Given the description of an element on the screen output the (x, y) to click on. 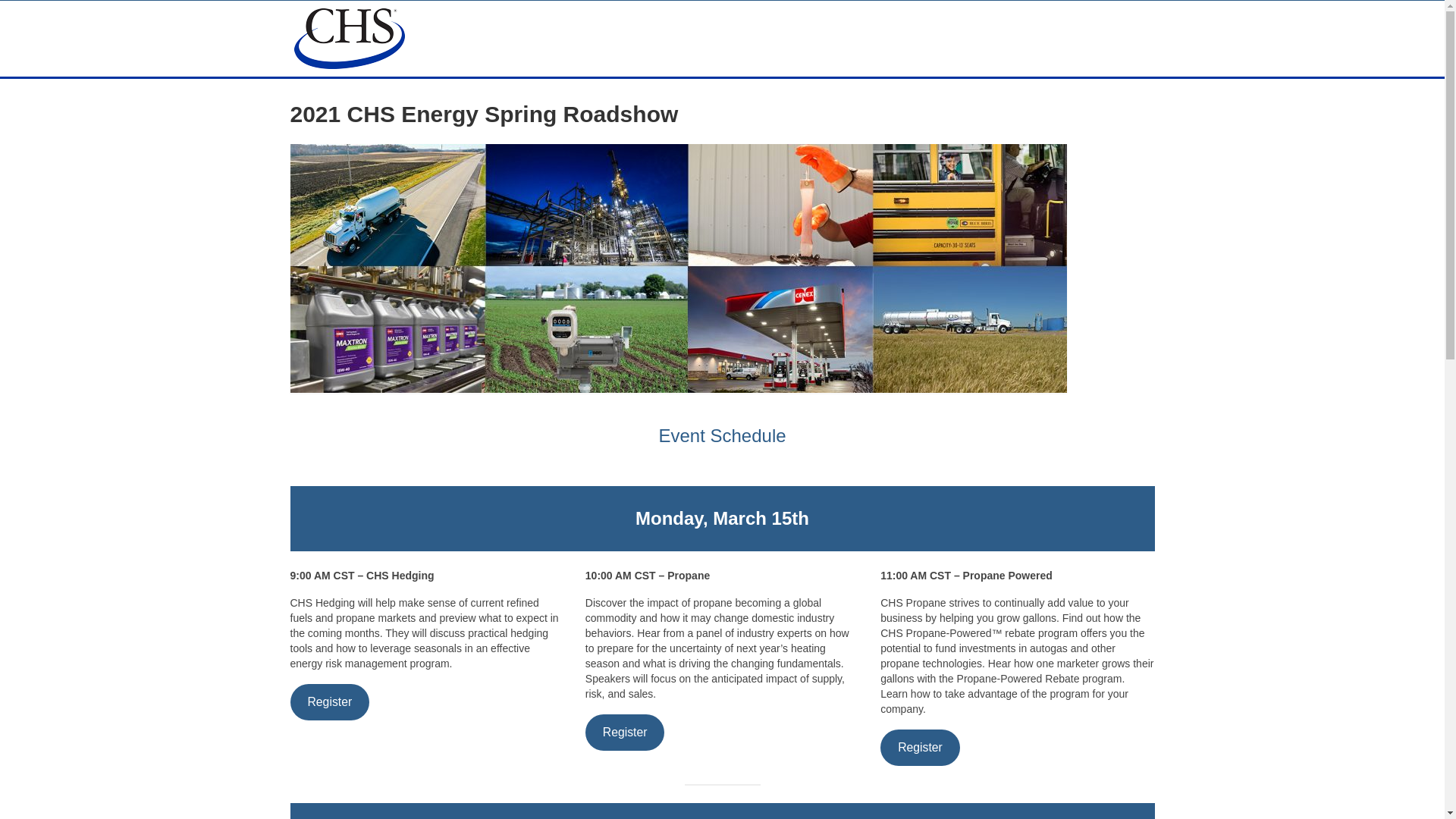
Register (329, 701)
Register (625, 732)
Register (919, 746)
